Given the description of an element on the screen output the (x, y) to click on. 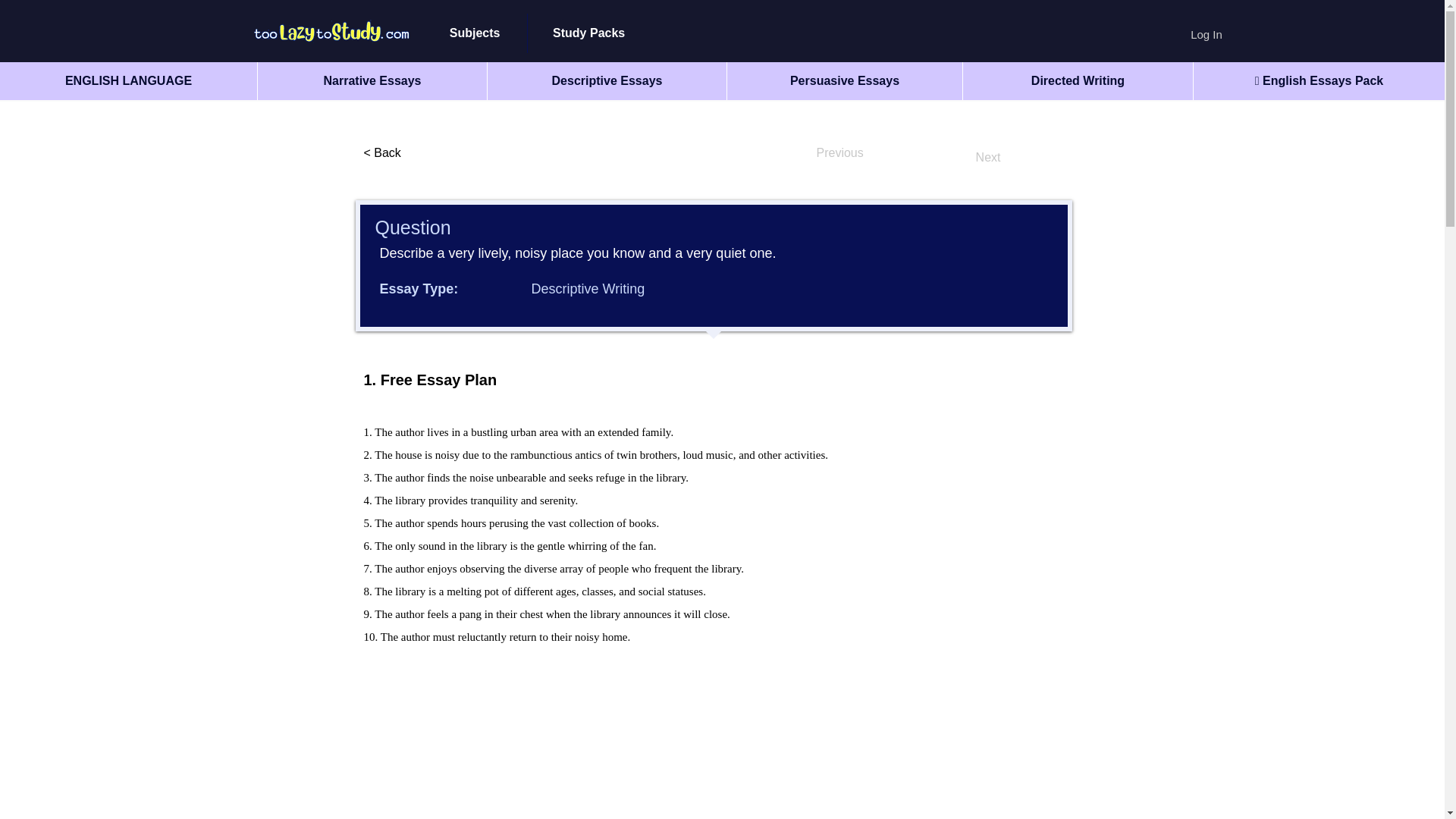
Persuasive Essays (844, 80)
Directed Writing (1077, 80)
Previous (865, 153)
Log In (1206, 33)
Descriptive Essays (606, 80)
Narrative Essays (371, 80)
Next (962, 157)
ENGLISH LANGUAGE (128, 80)
